Given the description of an element on the screen output the (x, y) to click on. 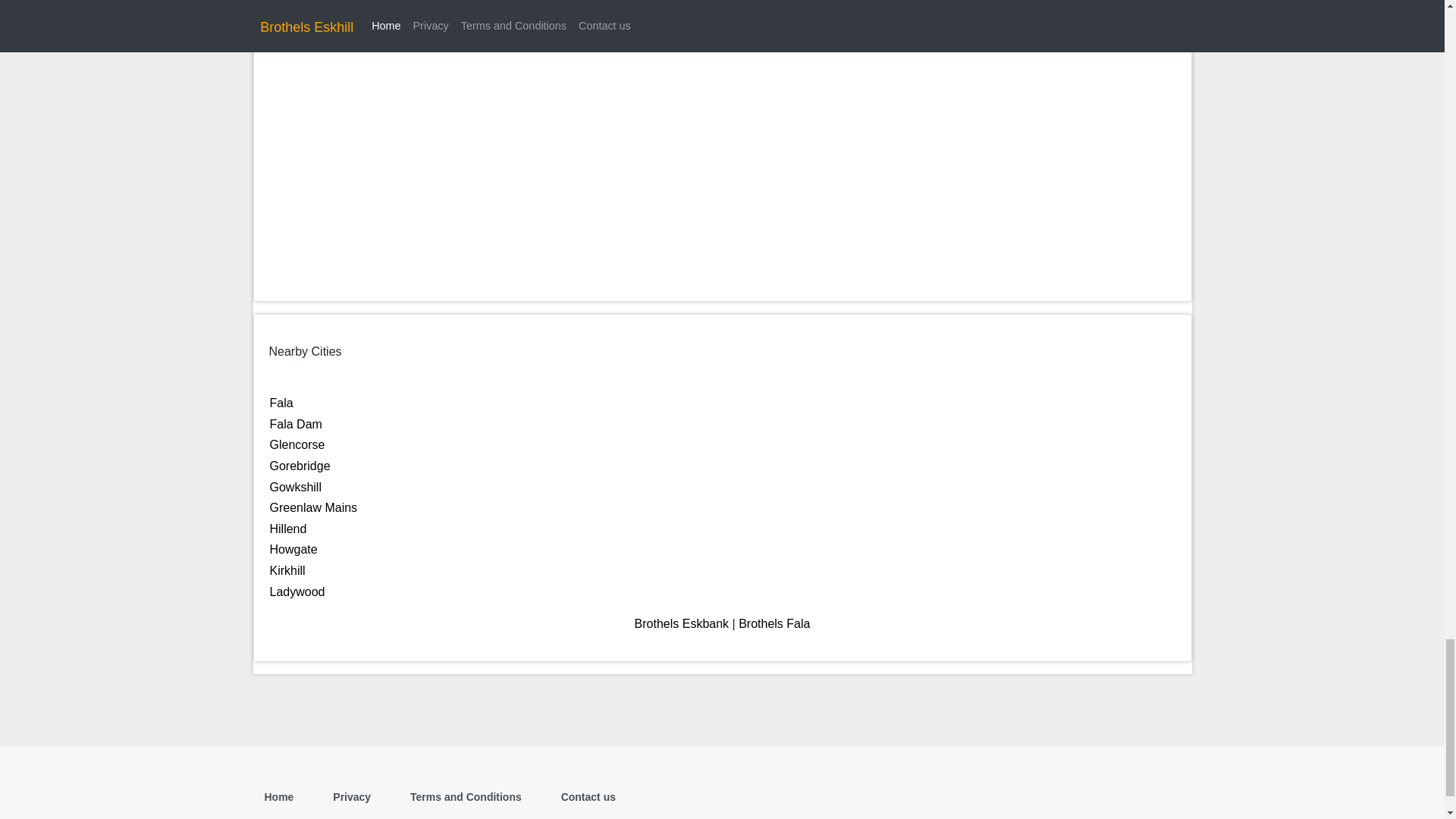
Glencorse (296, 444)
Brothels Eskbank (681, 623)
Gorebridge (299, 465)
Hillend (288, 528)
Gowkshill (295, 486)
Fala (281, 402)
Ladywood (296, 591)
Kirkhill (287, 570)
Greenlaw Mains (313, 507)
Howgate (293, 549)
Brothels Fala (773, 623)
Fala Dam (295, 423)
